Given the description of an element on the screen output the (x, y) to click on. 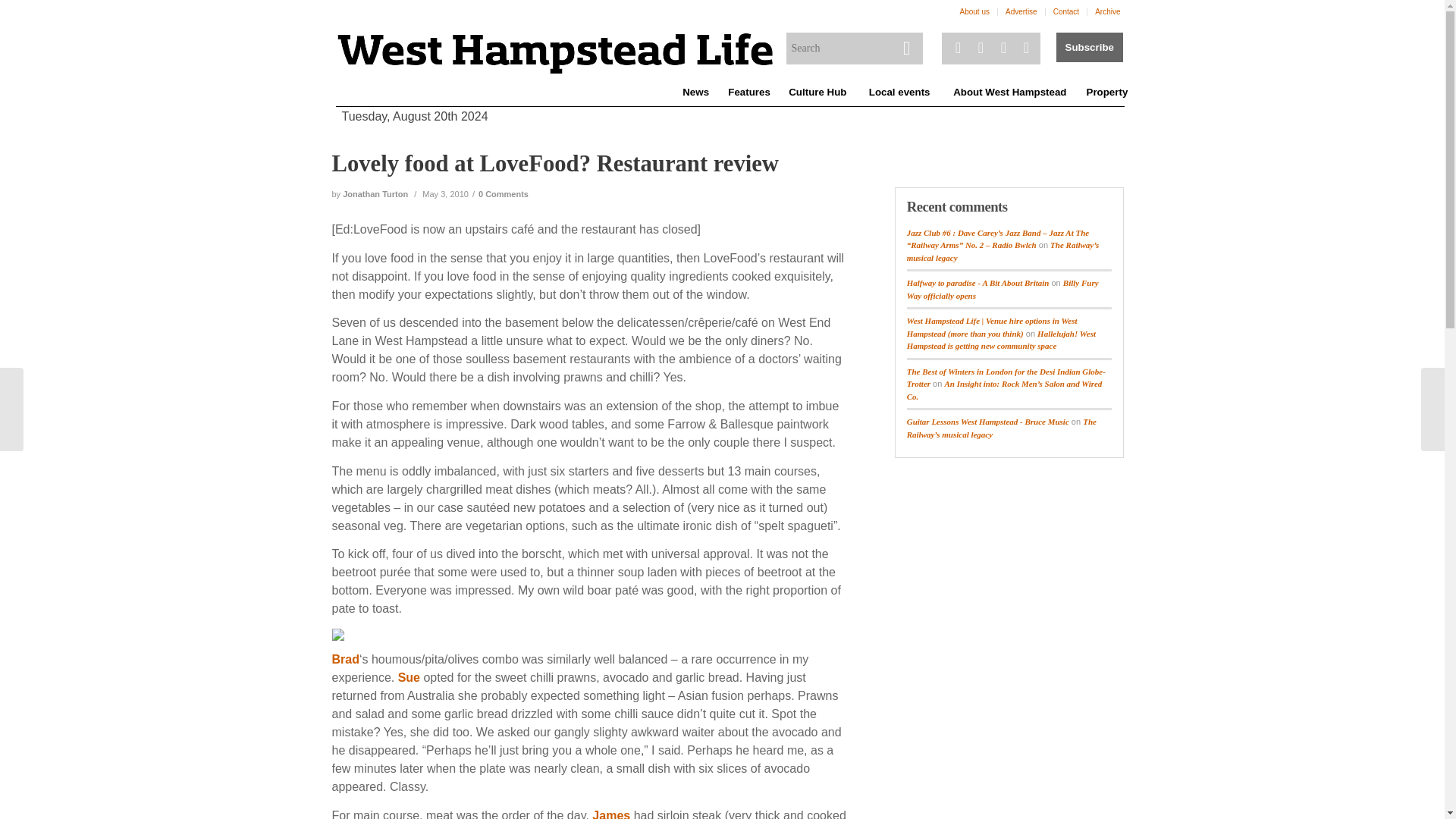
Property (1105, 92)
Subscribe (1088, 47)
Features (747, 92)
Local events (898, 92)
Contact (1065, 11)
Archive (1106, 11)
About West Hampstead (1008, 92)
Advertise (1021, 11)
About us (974, 11)
News (694, 92)
